Given the description of an element on the screen output the (x, y) to click on. 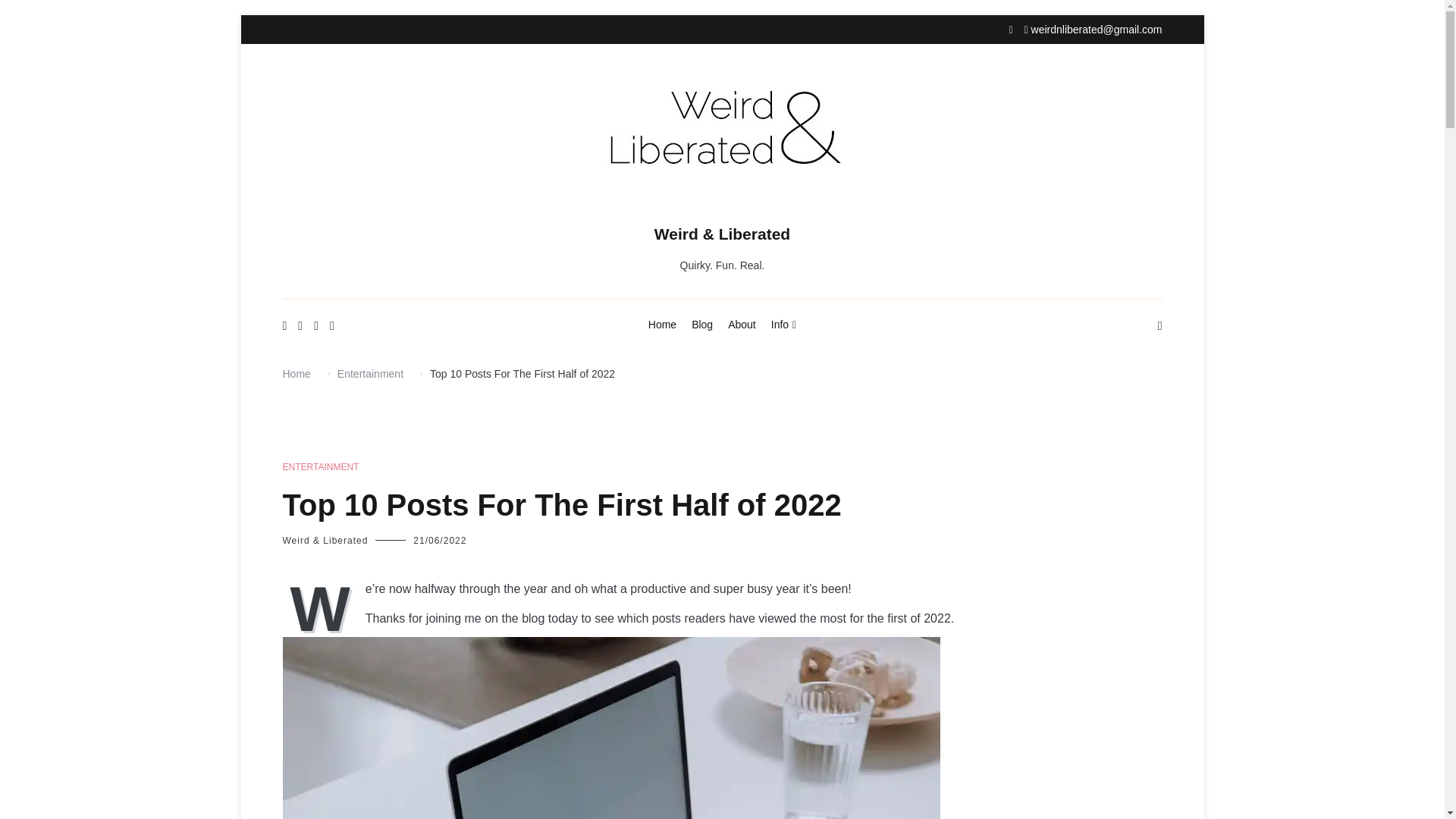
W (323, 606)
Entertainment (370, 373)
ENTERTAINMENT (320, 467)
Home (296, 373)
